Given the description of an element on the screen output the (x, y) to click on. 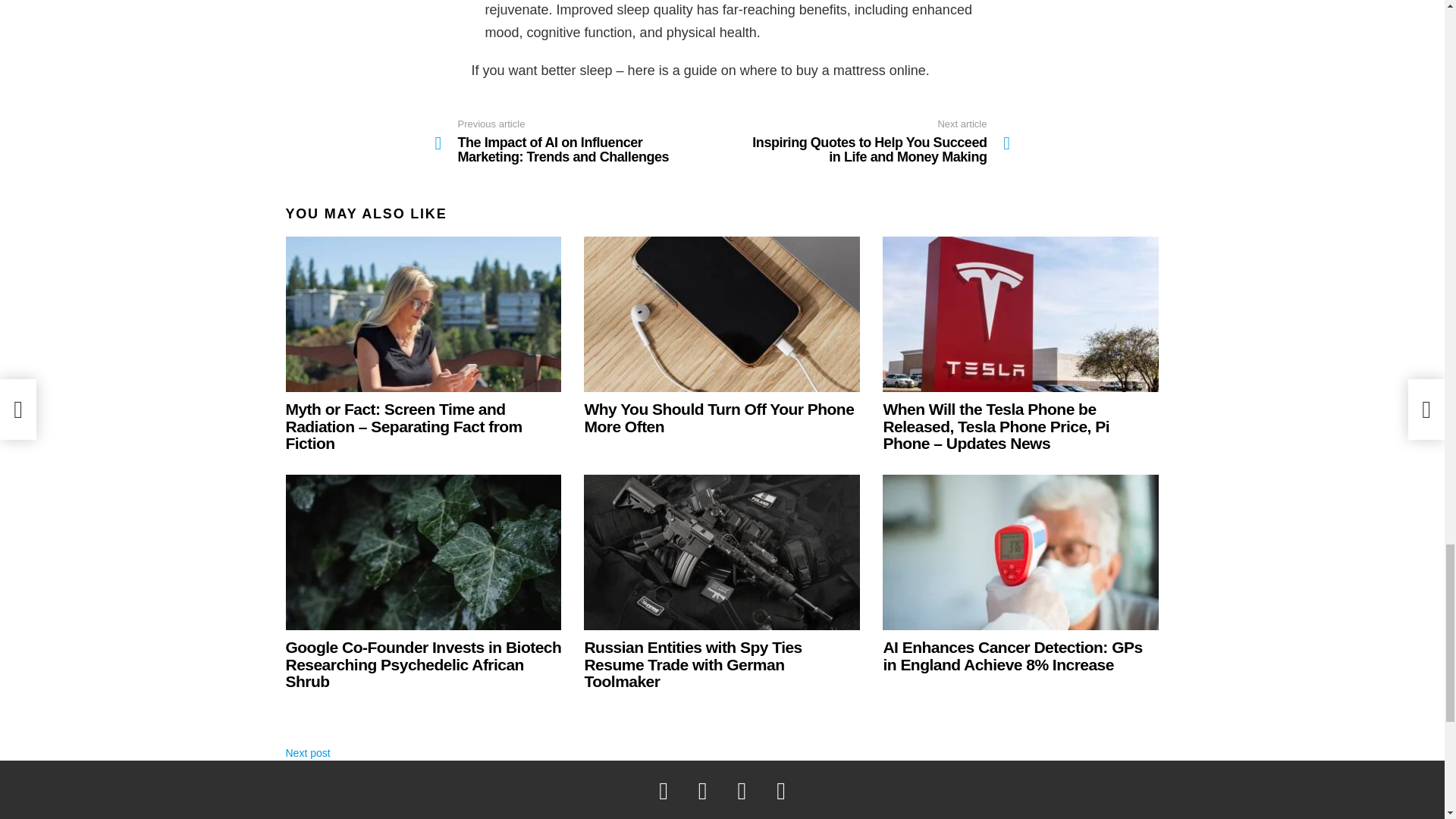
Next post (307, 752)
Why You Should Turn Off Your Phone More Often (718, 417)
Why You Should Turn Off Your Phone More Often (721, 314)
